Given the description of an element on the screen output the (x, y) to click on. 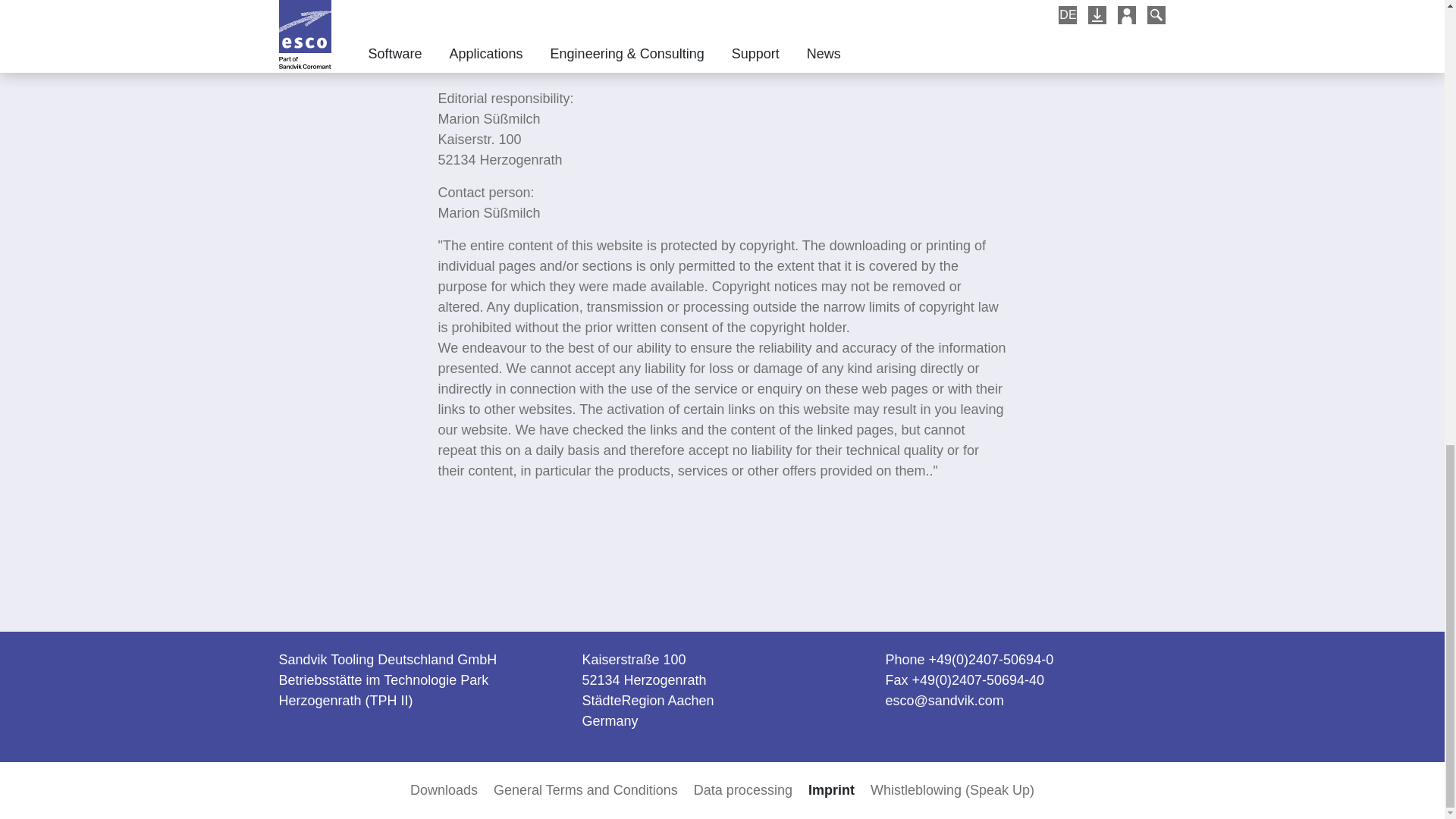
Downloads (443, 789)
Downloads (443, 789)
General Terms and Conditions (585, 789)
General Terms and Conditions (585, 789)
German Supply Chain Due Diligence Act Report Nr. 1 (599, 32)
Data processing (743, 789)
